Given the description of an element on the screen output the (x, y) to click on. 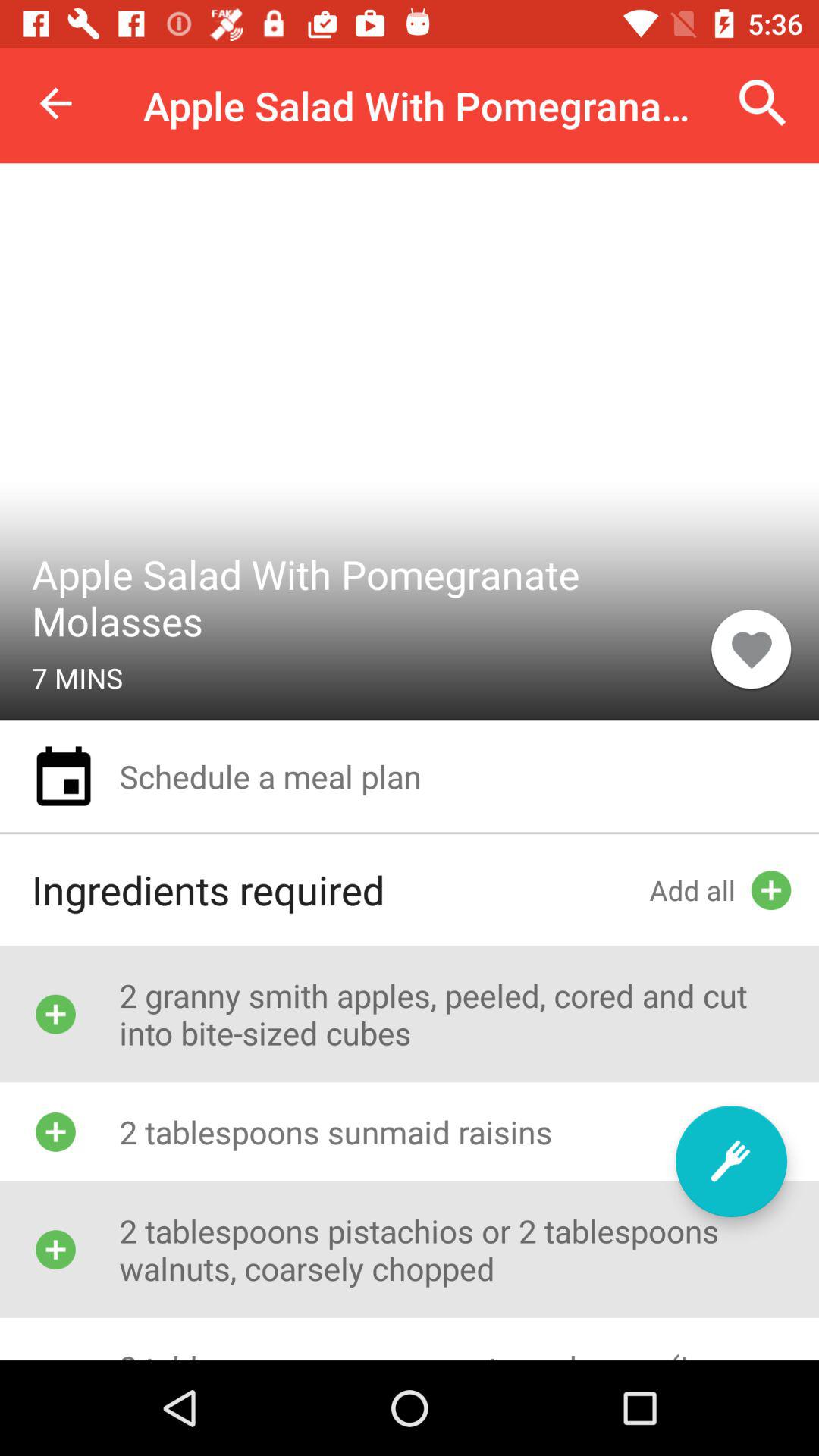
open the item next to the apple salad with item (763, 103)
